Given the description of an element on the screen output the (x, y) to click on. 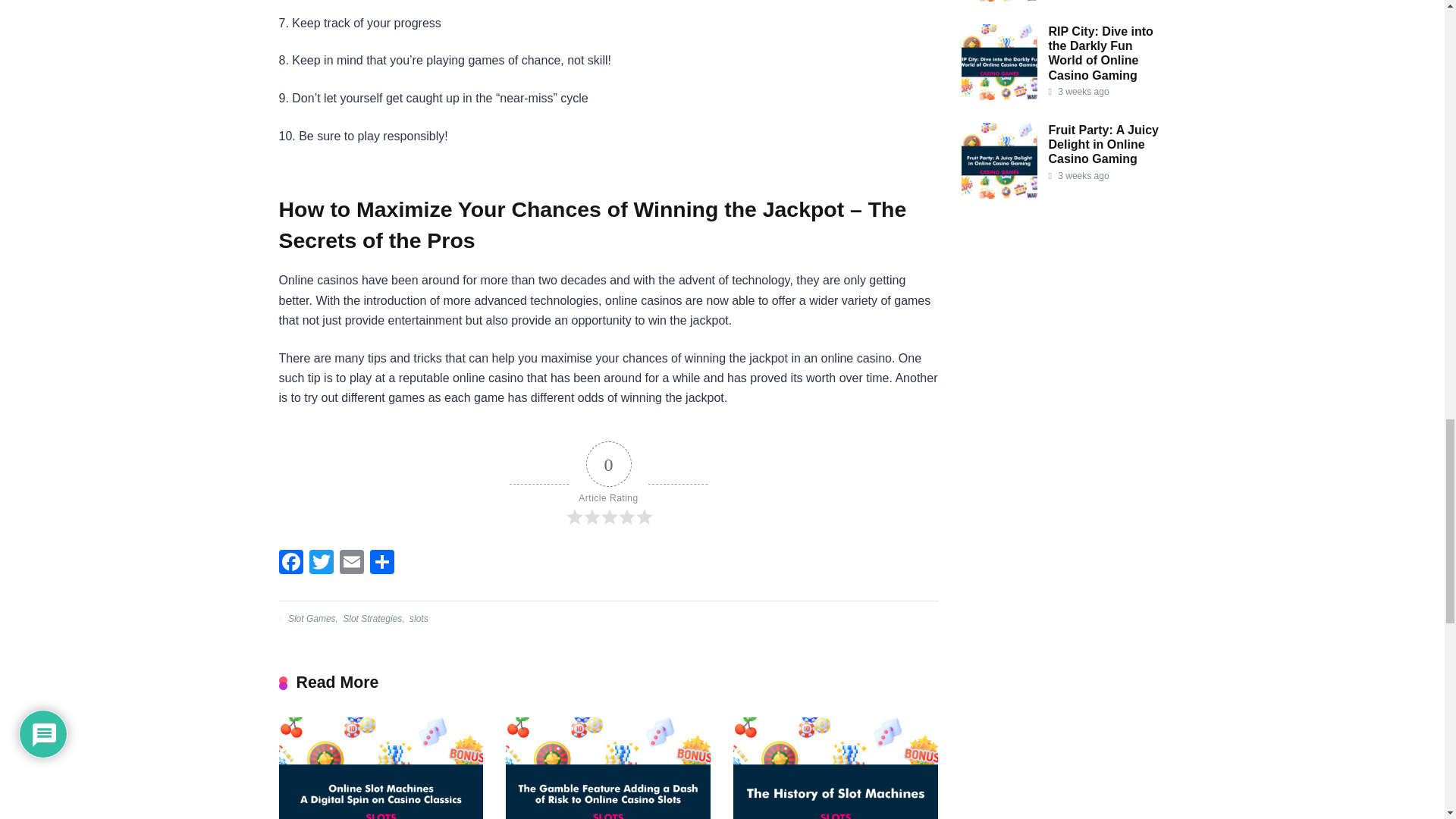
Twitter (320, 563)
Email (351, 563)
Slot Strategies (370, 618)
Slot Games (310, 618)
The History of Slot Machines (835, 768)
slots (417, 618)
Email (351, 563)
Facebook (290, 563)
Online Slot Machines: A Digital Spin on Casino Classics (381, 768)
Twitter (320, 563)
